Given the description of an element on the screen output the (x, y) to click on. 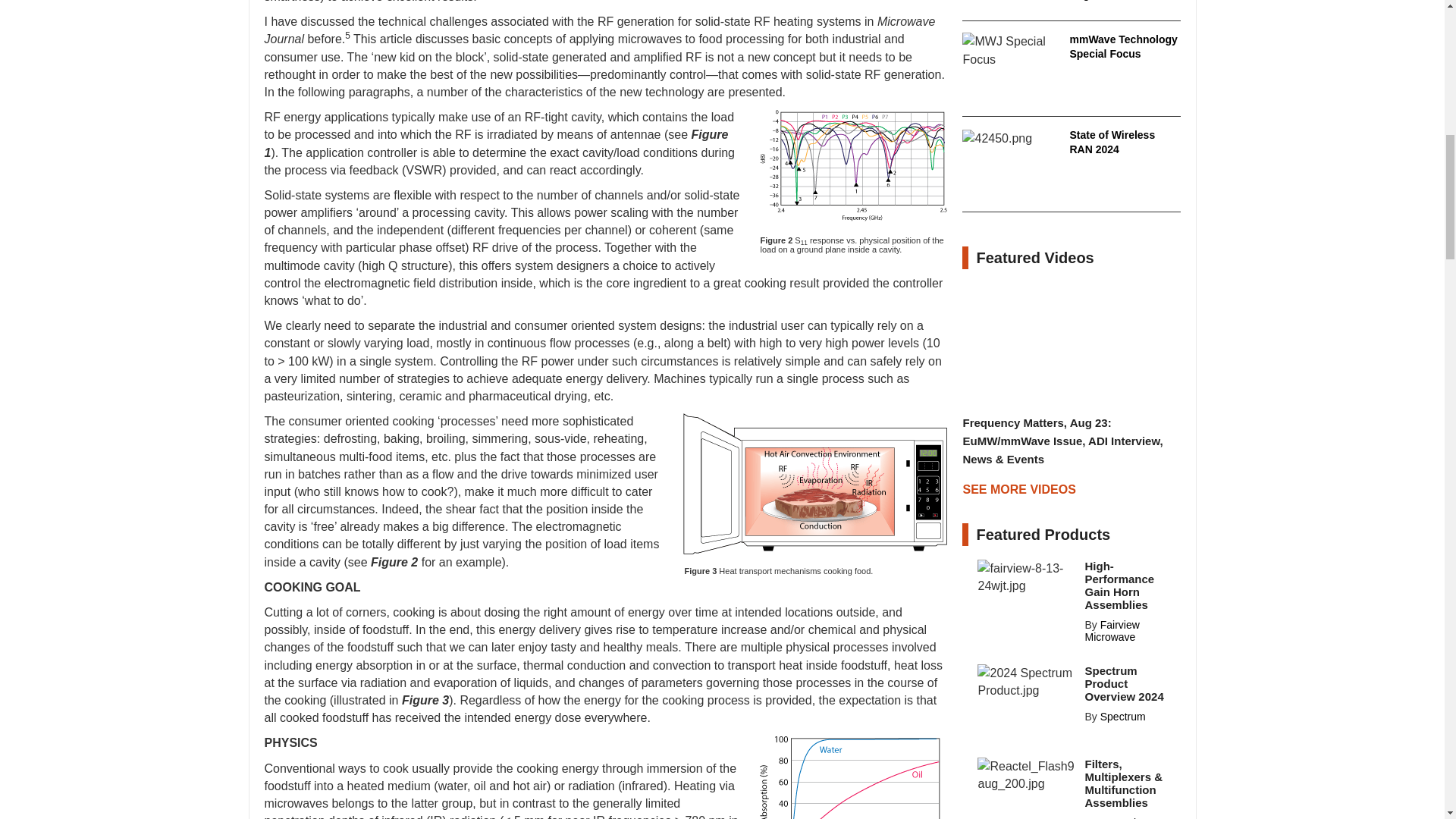
2024 Spectrum Product.jpg (1025, 681)
fairview-8-13-24wjt.jpg (1025, 576)
42450.png (997, 138)
